Given the description of an element on the screen output the (x, y) to click on. 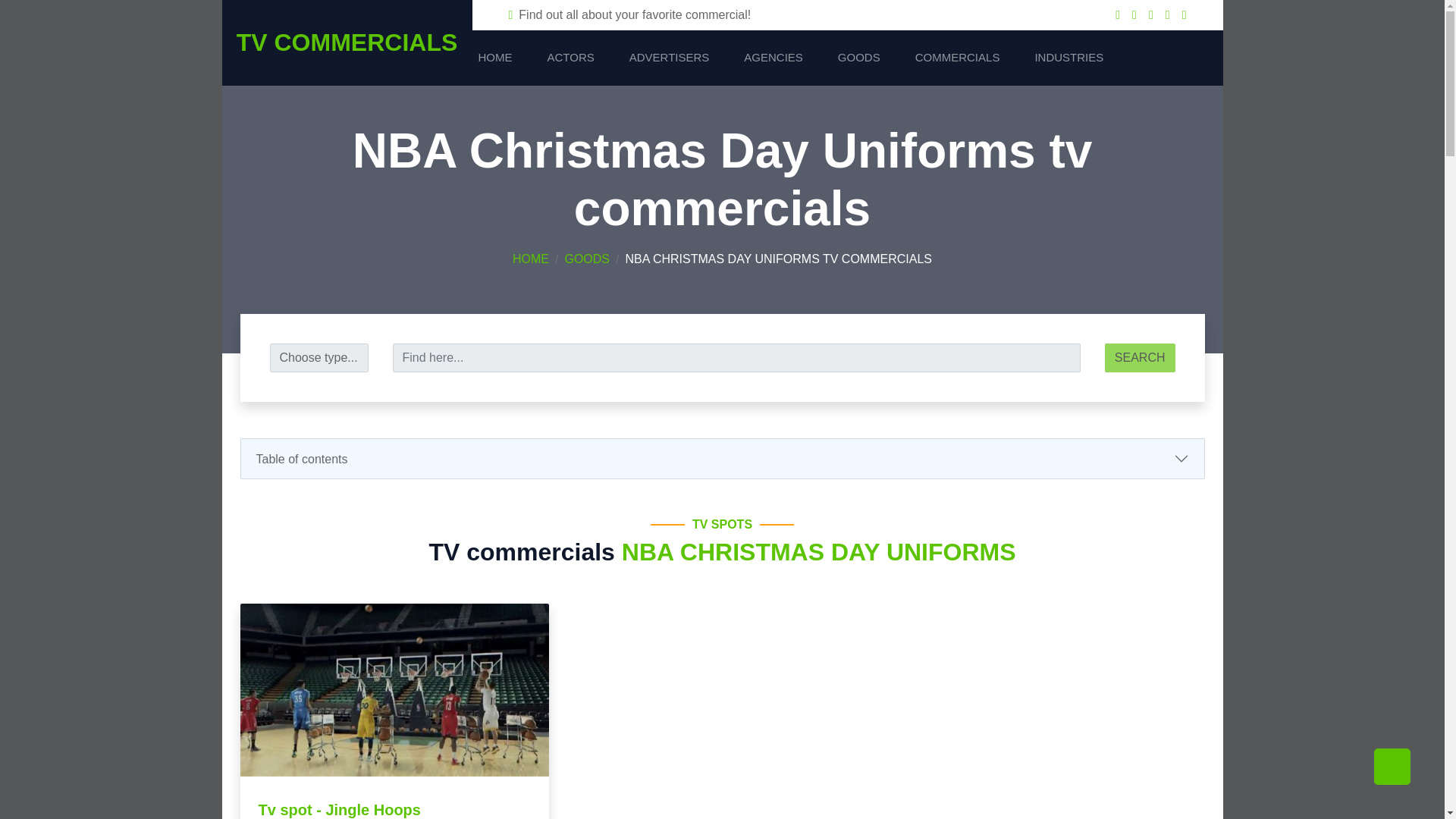
COMMERCIALS (957, 57)
HOME (530, 258)
Tv spot - Jingle Hoops (338, 809)
TV COMMERCIALS (346, 42)
ADVERTISERS (669, 57)
GOODS (858, 57)
Table of contents (722, 458)
GOODS (587, 258)
AGENCIES (773, 57)
ACTORS (570, 57)
NBA Store TV Spot, 'Jingle Hoops' (394, 689)
INDUSTRIES (1068, 57)
SEARCH (1139, 357)
HOME (494, 57)
